Given the description of an element on the screen output the (x, y) to click on. 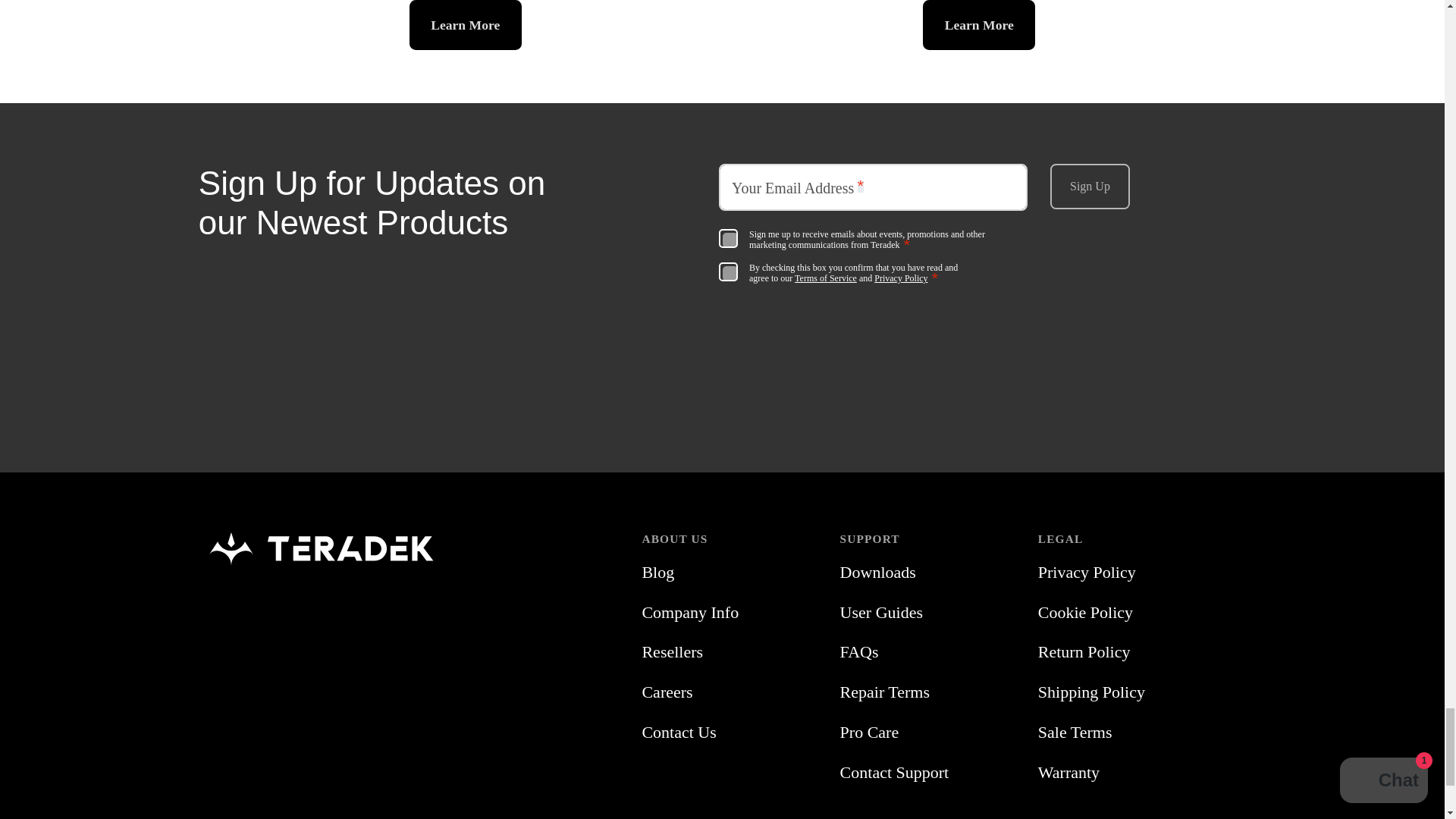
 Iframe (975, 243)
